Given the description of an element on the screen output the (x, y) to click on. 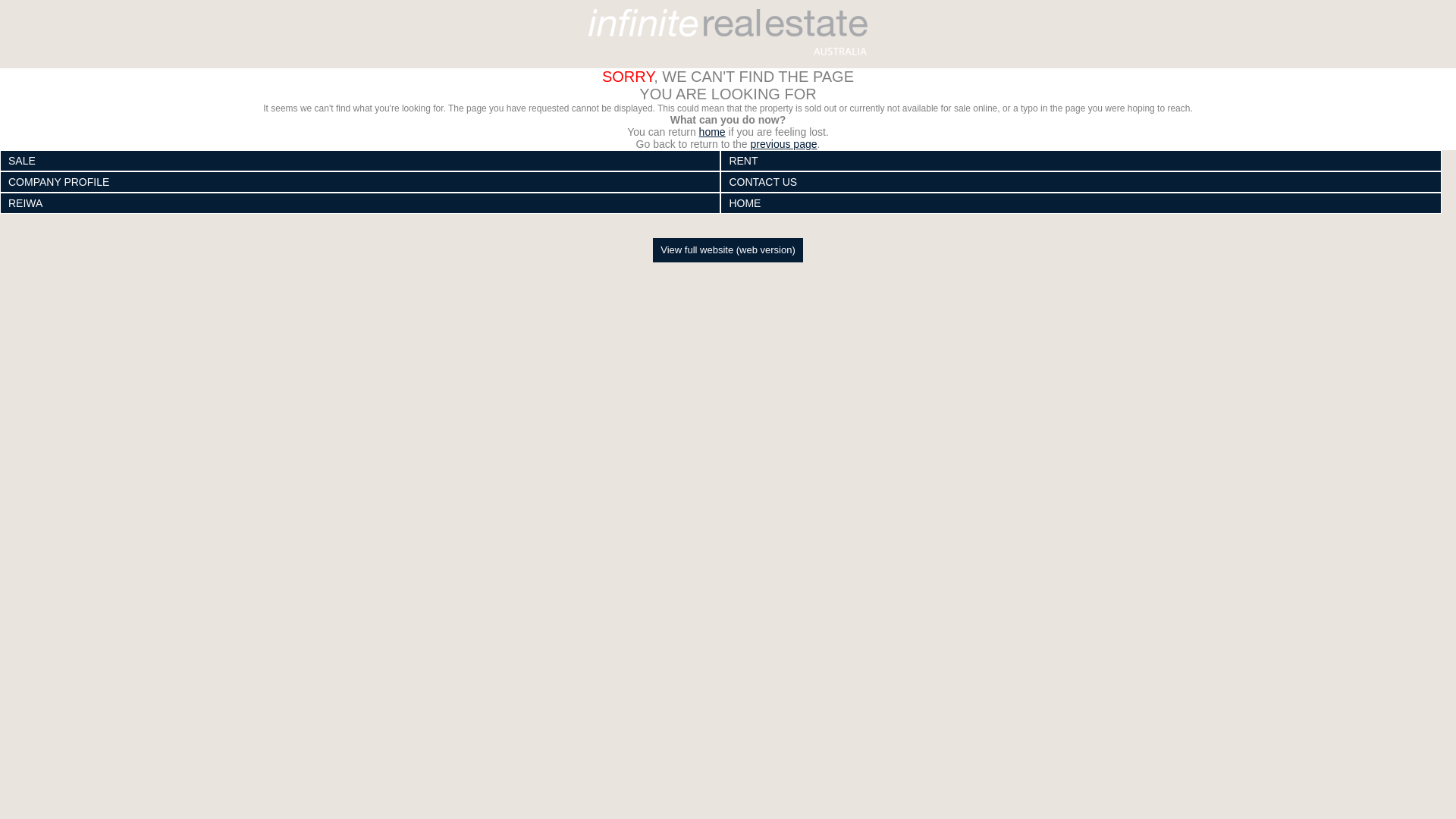
COMPANY PROFILE Element type: text (360, 181)
REIWA Element type: text (360, 202)
home Element type: text (712, 131)
Infinite Real Estate Element type: hover (727, 32)
CONTACT US Element type: text (1080, 181)
View full website (web version) Element type: text (727, 250)
SALE Element type: text (360, 160)
RENT Element type: text (1080, 160)
HOME Element type: text (1080, 202)
previous page Element type: text (783, 144)
